Given the description of an element on the screen output the (x, y) to click on. 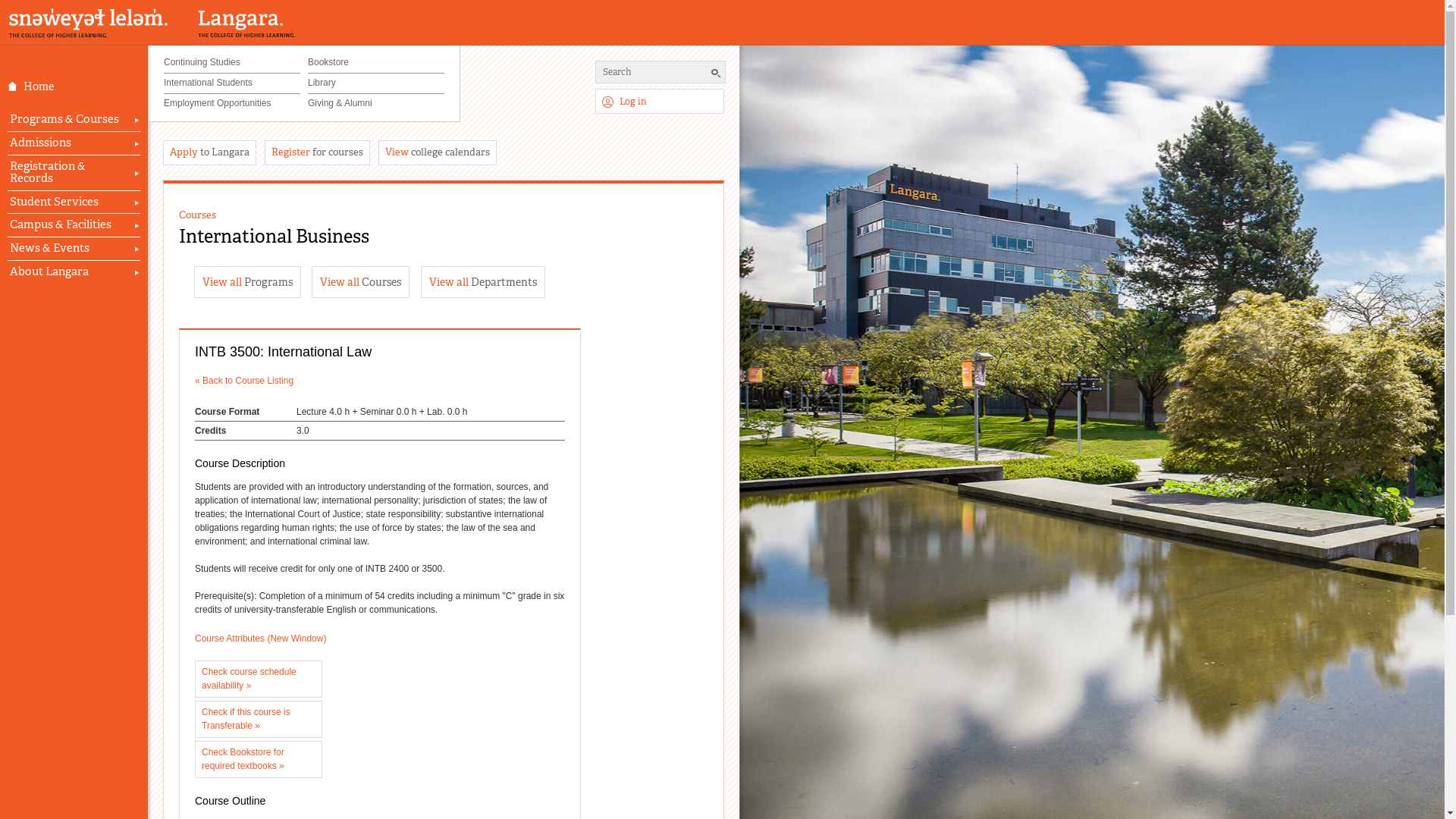
International Students Element type: text (231, 83)
View all Courses Element type: text (360, 282)
Home Element type: text (81, 85)
Campus & Facilities Element type: text (73, 224)
Giving & Alumni Element type: text (375, 103)
Continuing Studies Element type: text (231, 63)
About Langara Element type: text (73, 271)
Employment Opportunities Element type: text (231, 103)
Student Services Element type: text (73, 202)
Log in Element type: text (659, 100)
View all Programs Element type: text (247, 282)
View college calendars Element type: text (437, 152)
Bookstore Element type: text (375, 63)
Courses Element type: text (197, 214)
Registration & Records Element type: text (73, 172)
News & Events Element type: text (73, 248)
Register for courses Element type: text (317, 152)
Programs & Courses Element type: text (73, 119)
Course Attributes (New Window) Element type: text (260, 638)
View all Departments Element type: text (482, 282)
Admissions Element type: text (73, 142)
Apply to Langara Element type: text (209, 152)
Library Element type: text (375, 83)
